Given the description of an element on the screen output the (x, y) to click on. 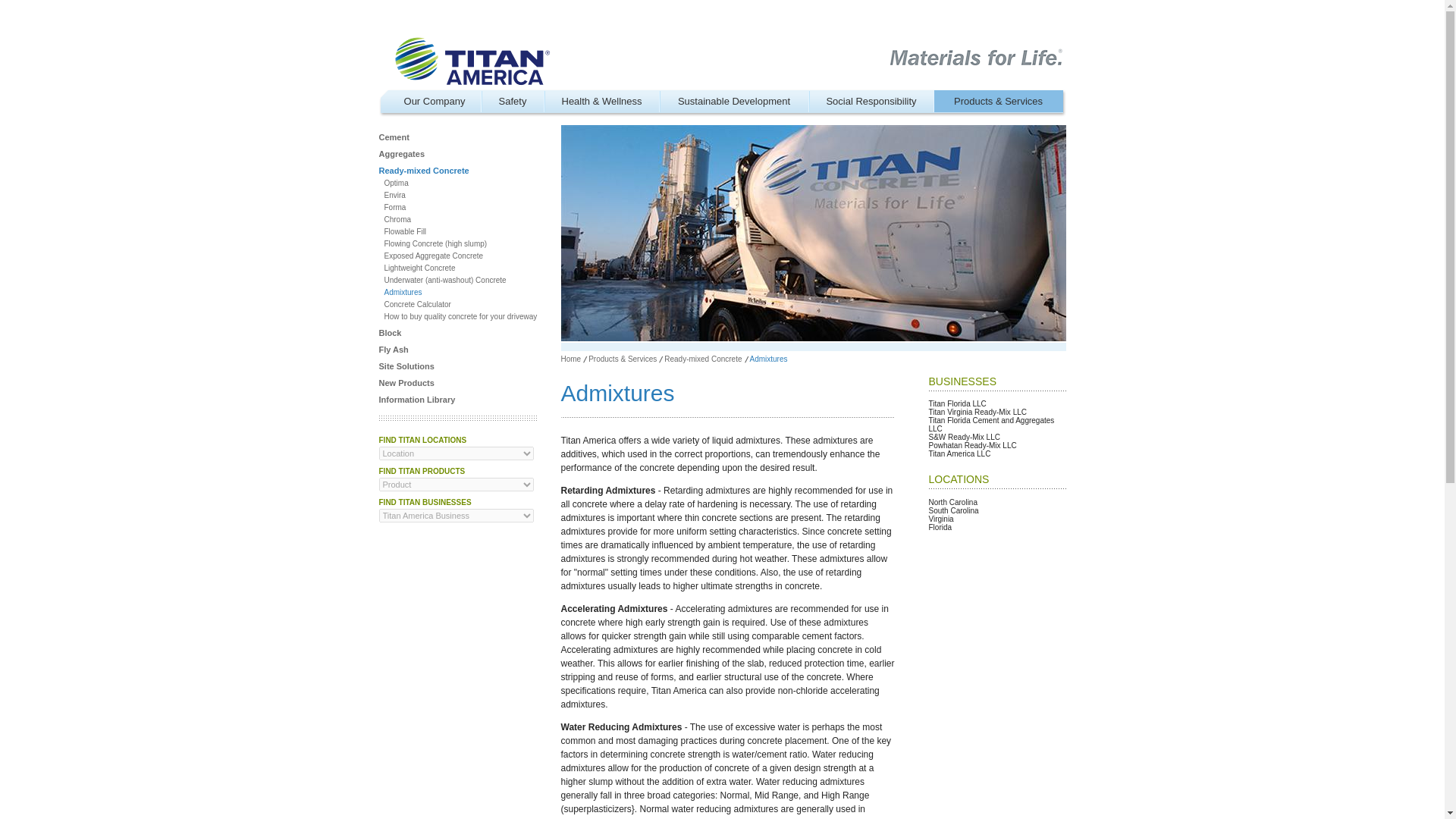
Social Responsibility (870, 101)
Our Company (434, 101)
Sustainable Development (734, 101)
Safety (511, 101)
